Given the description of an element on the screen output the (x, y) to click on. 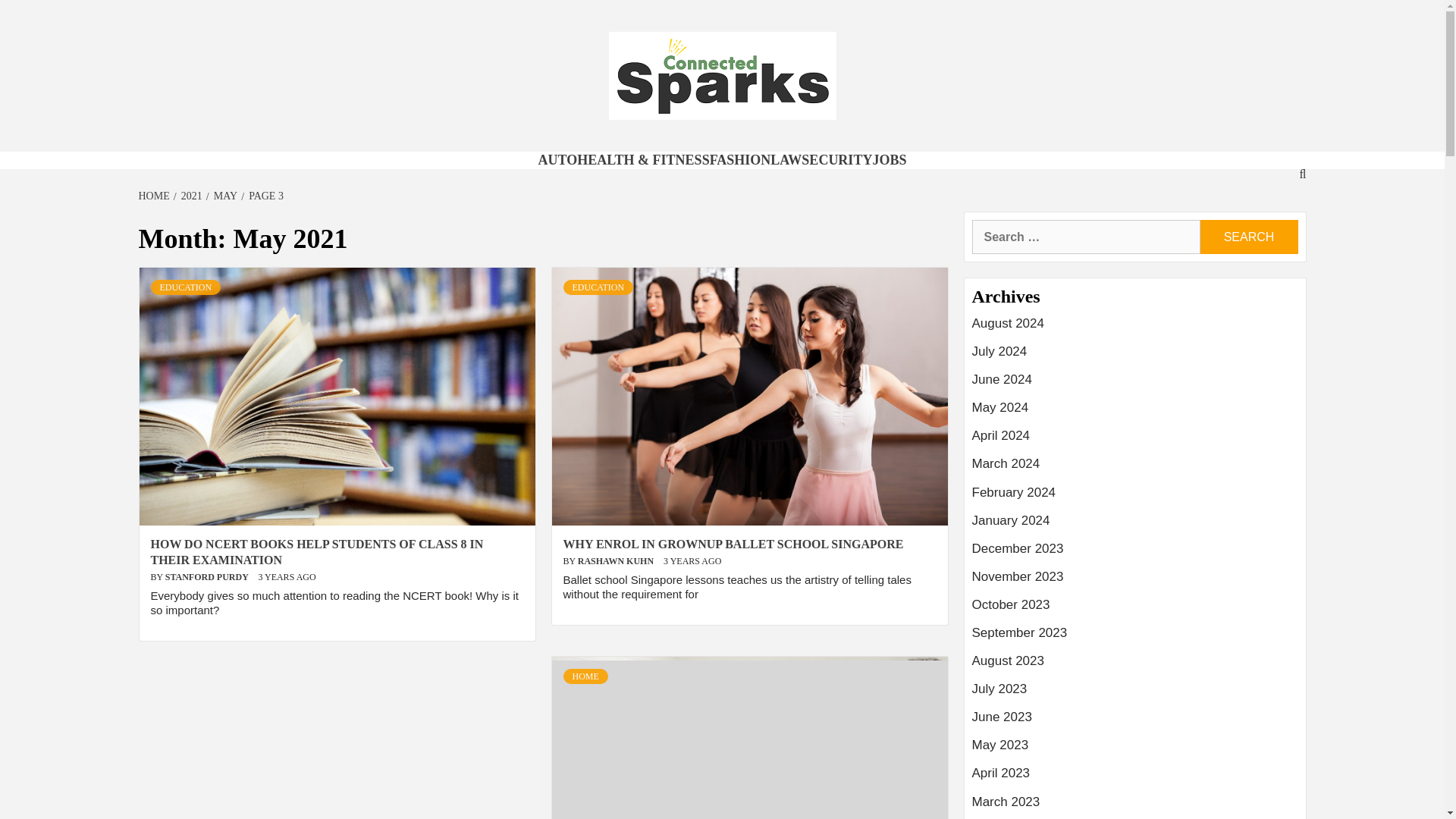
Search (1248, 236)
STANFORD PURDY (207, 576)
RASHAWN KUHN (617, 561)
AUTO (558, 159)
CONNECTED SPARKS (540, 168)
PAGE 3 (263, 195)
EDUCATION (185, 287)
MAY (223, 195)
WHY ENROL IN GROWNUP BALLET SCHOOL SINGAPORE (732, 543)
